Given the description of an element on the screen output the (x, y) to click on. 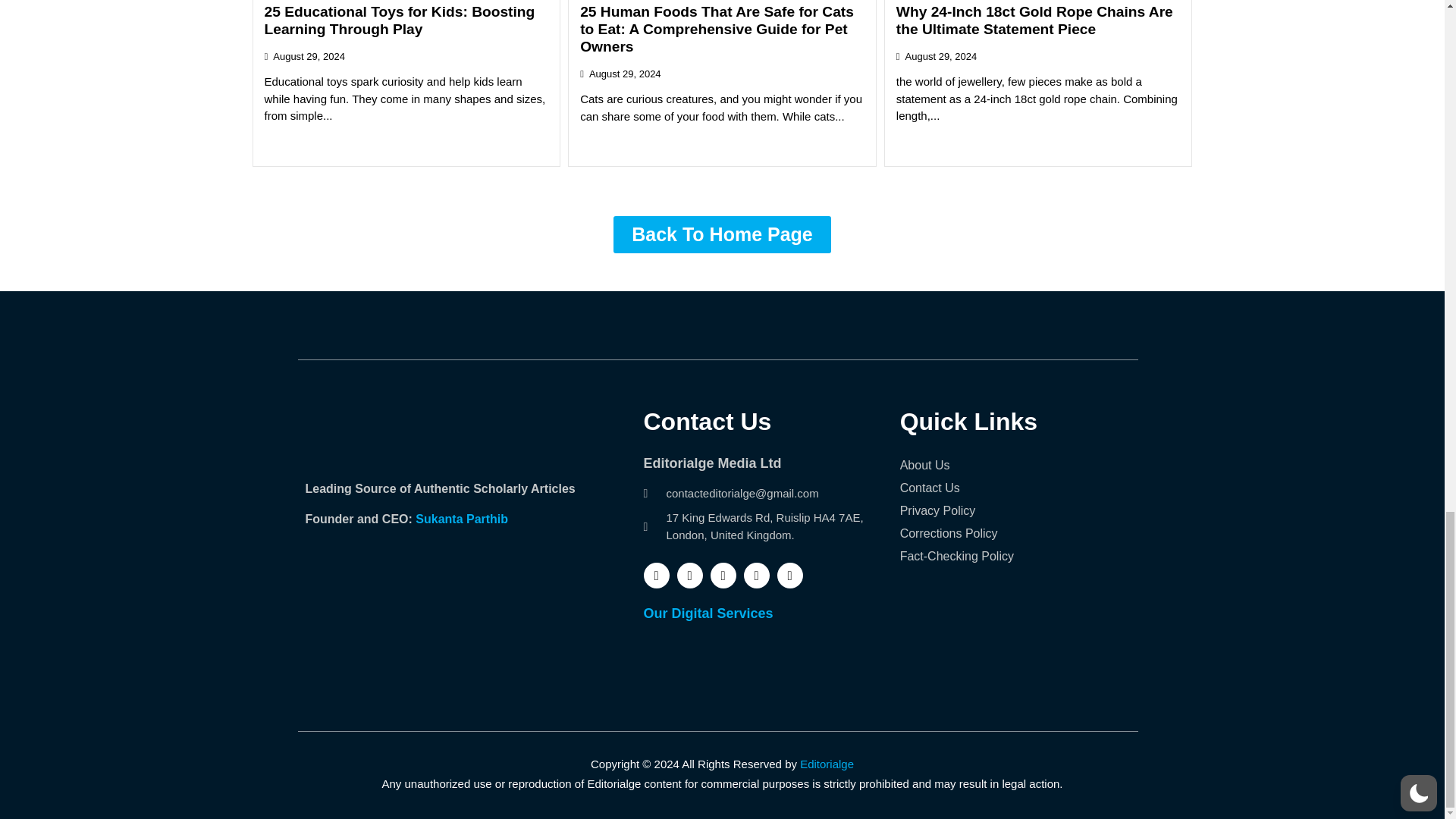
DMCA.com Protection Status (485, 664)
25 Educational Toys for Kids: Boosting Learning Through Play (398, 20)
